Given the description of an element on the screen output the (x, y) to click on. 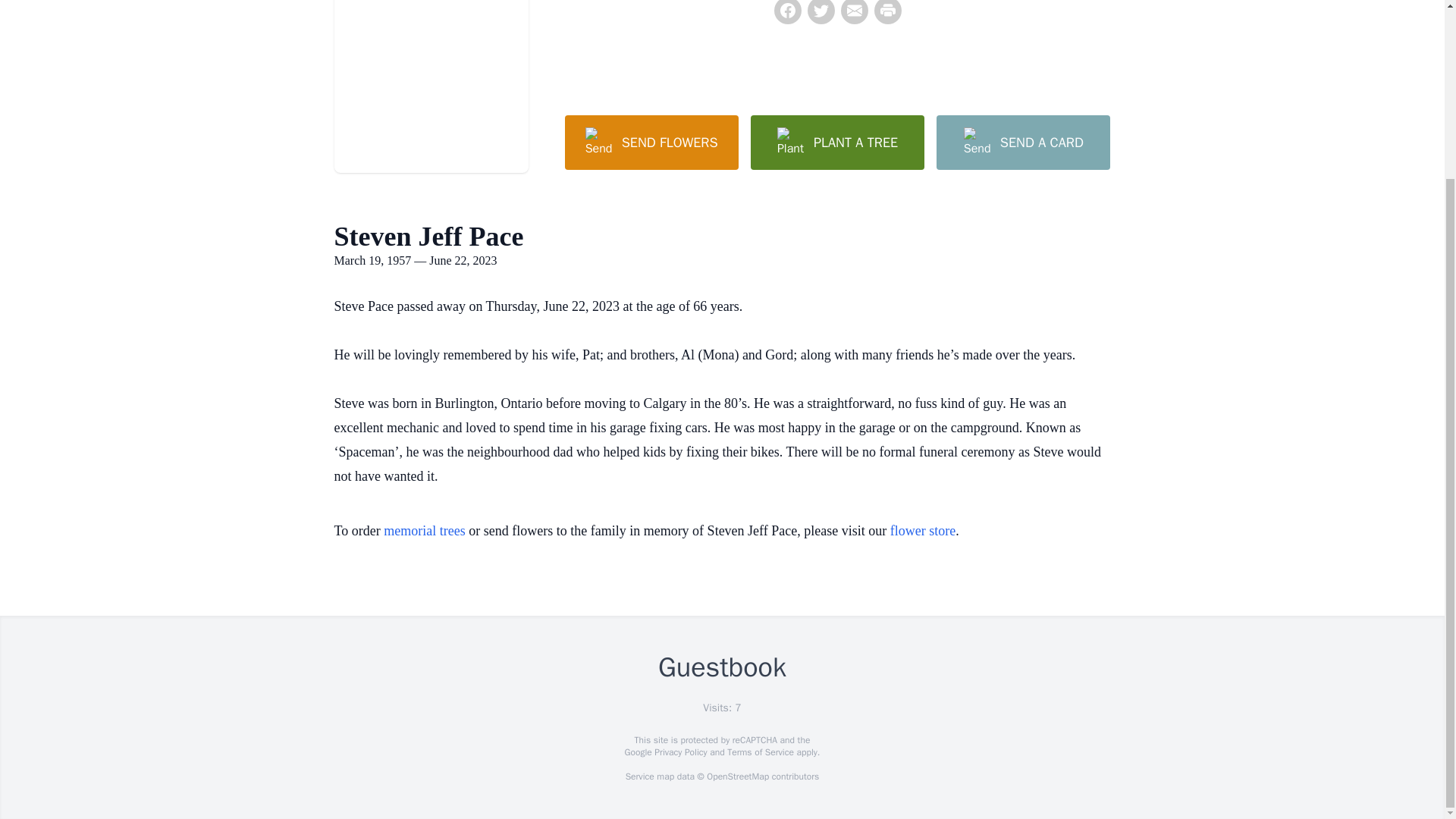
PLANT A TREE (837, 142)
memorial trees (424, 530)
OpenStreetMap (737, 776)
SEND A CARD (1022, 142)
Privacy Policy (679, 752)
SEND FLOWERS (651, 142)
flower store (922, 530)
Terms of Service (759, 752)
